Given the description of an element on the screen output the (x, y) to click on. 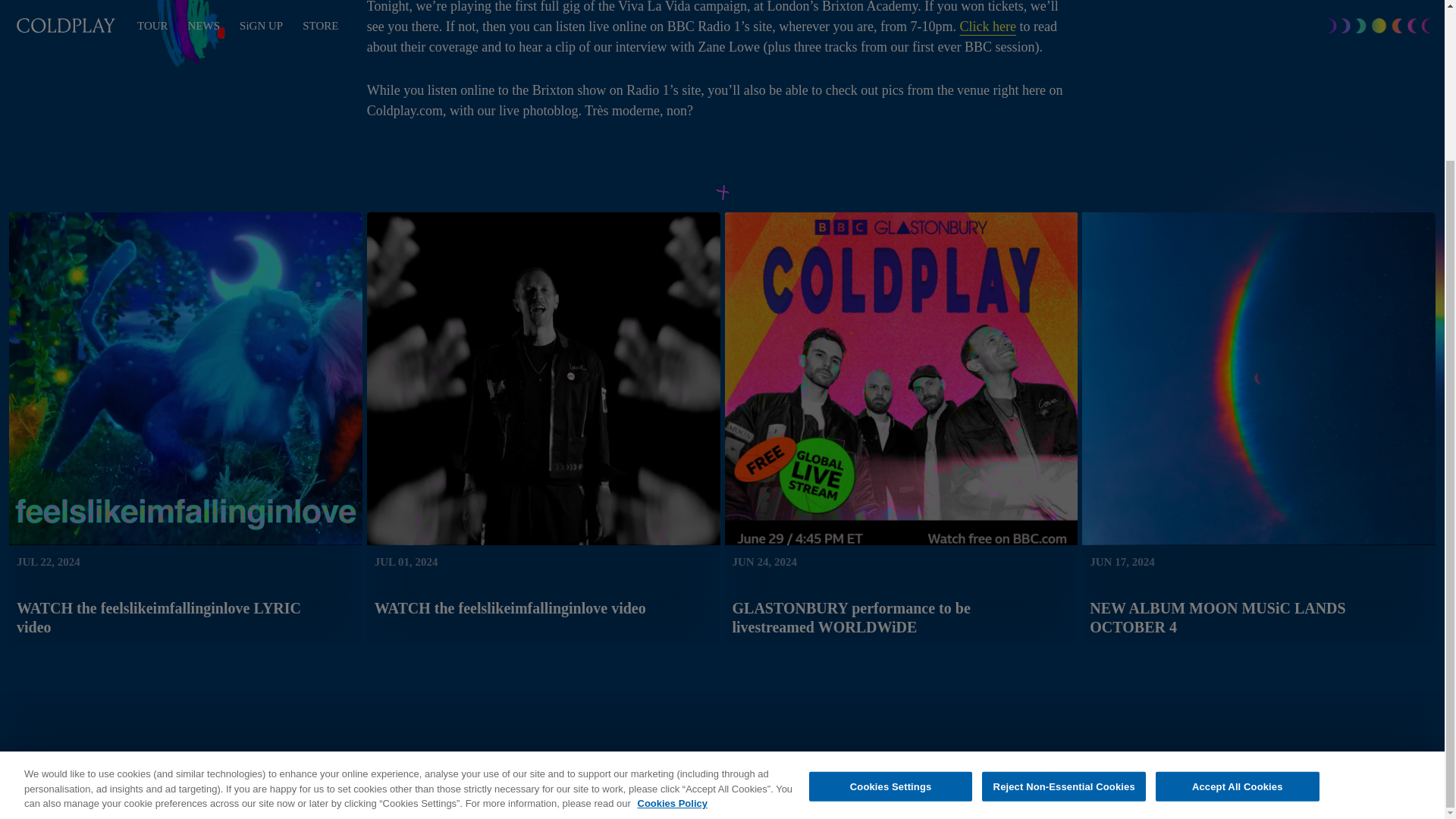
Cookies Policy (671, 613)
Cookies Settings (890, 596)
Accept All Cookies (1237, 596)
Reject Non-Essential Cookies (1063, 596)
Click here (987, 26)
